Given the description of an element on the screen output the (x, y) to click on. 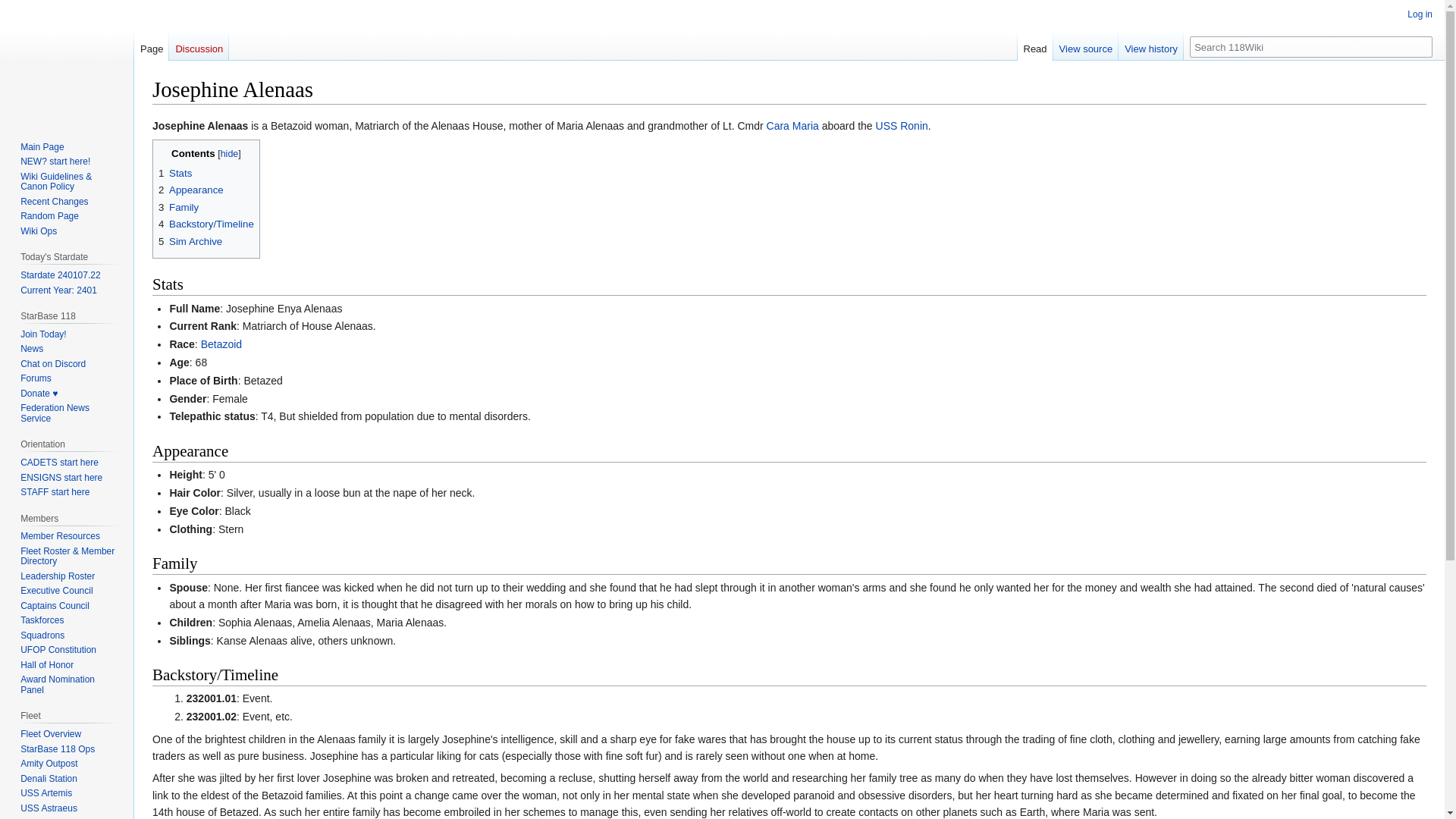
Search the pages for this text (1420, 46)
Search (1420, 46)
NEW? start here! (55, 161)
3 Family (178, 206)
Main Page (42, 146)
5 Sim Archive (190, 241)
Current Year: 2401 (58, 290)
USS Ronin (902, 125)
View source (1085, 45)
View history (1150, 45)
Read (1034, 45)
1 Stats (175, 173)
Go (1420, 46)
Betazoid (220, 344)
Stardate 240107.22 (60, 275)
